Given the description of an element on the screen output the (x, y) to click on. 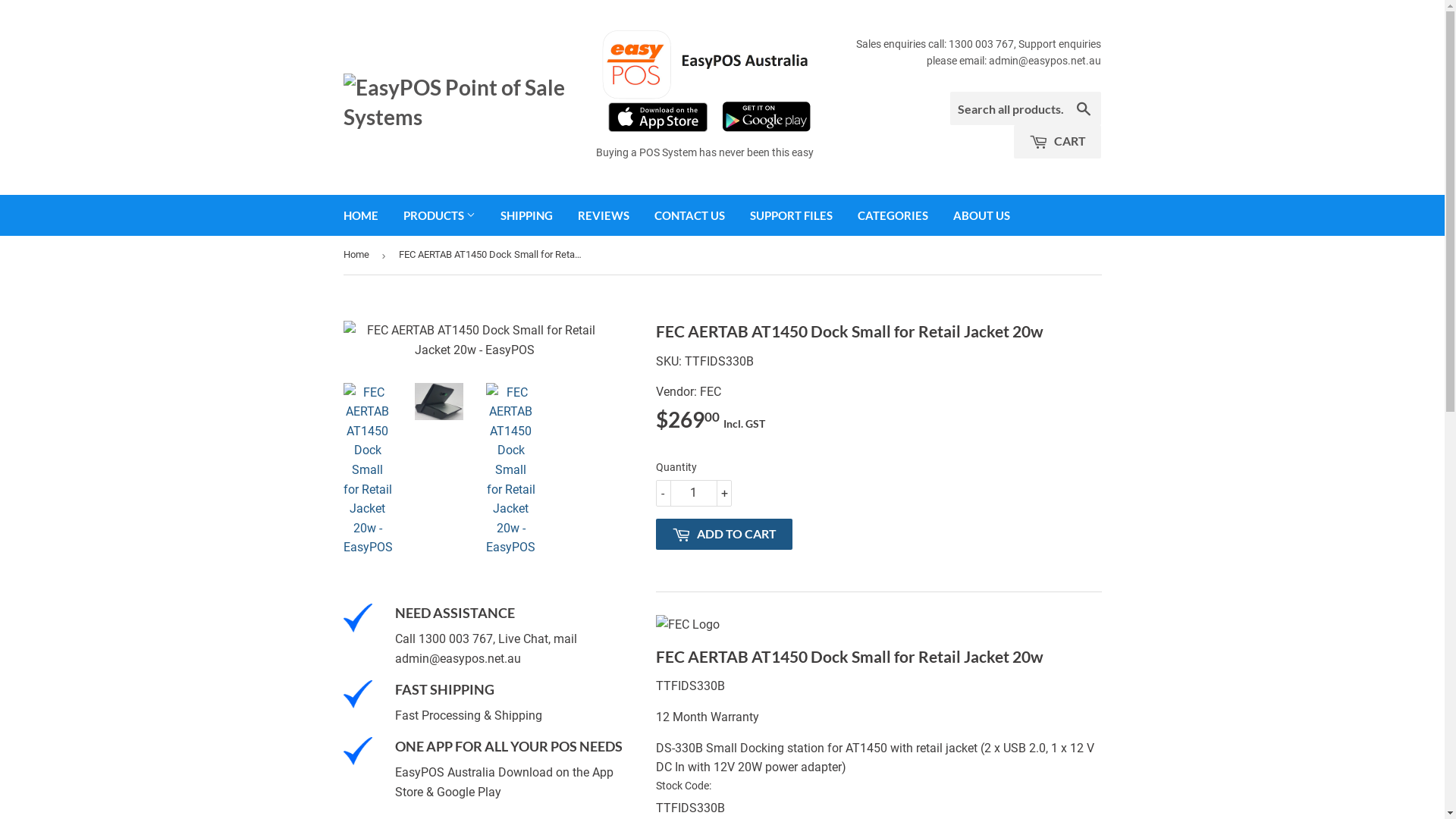
REVIEWS Element type: text (602, 214)
PRODUCTS Element type: text (438, 214)
SUPPORT FILES Element type: text (791, 214)
CATEGORIES Element type: text (892, 214)
Search Element type: text (1083, 109)
HOME Element type: text (360, 214)
SHIPPING Element type: text (525, 214)
Home Element type: text (357, 254)
CONTACT US Element type: text (689, 214)
CART Element type: text (1057, 141)
ADD TO CART Element type: text (723, 533)
ABOUT US Element type: text (981, 214)
